Given the description of an element on the screen output the (x, y) to click on. 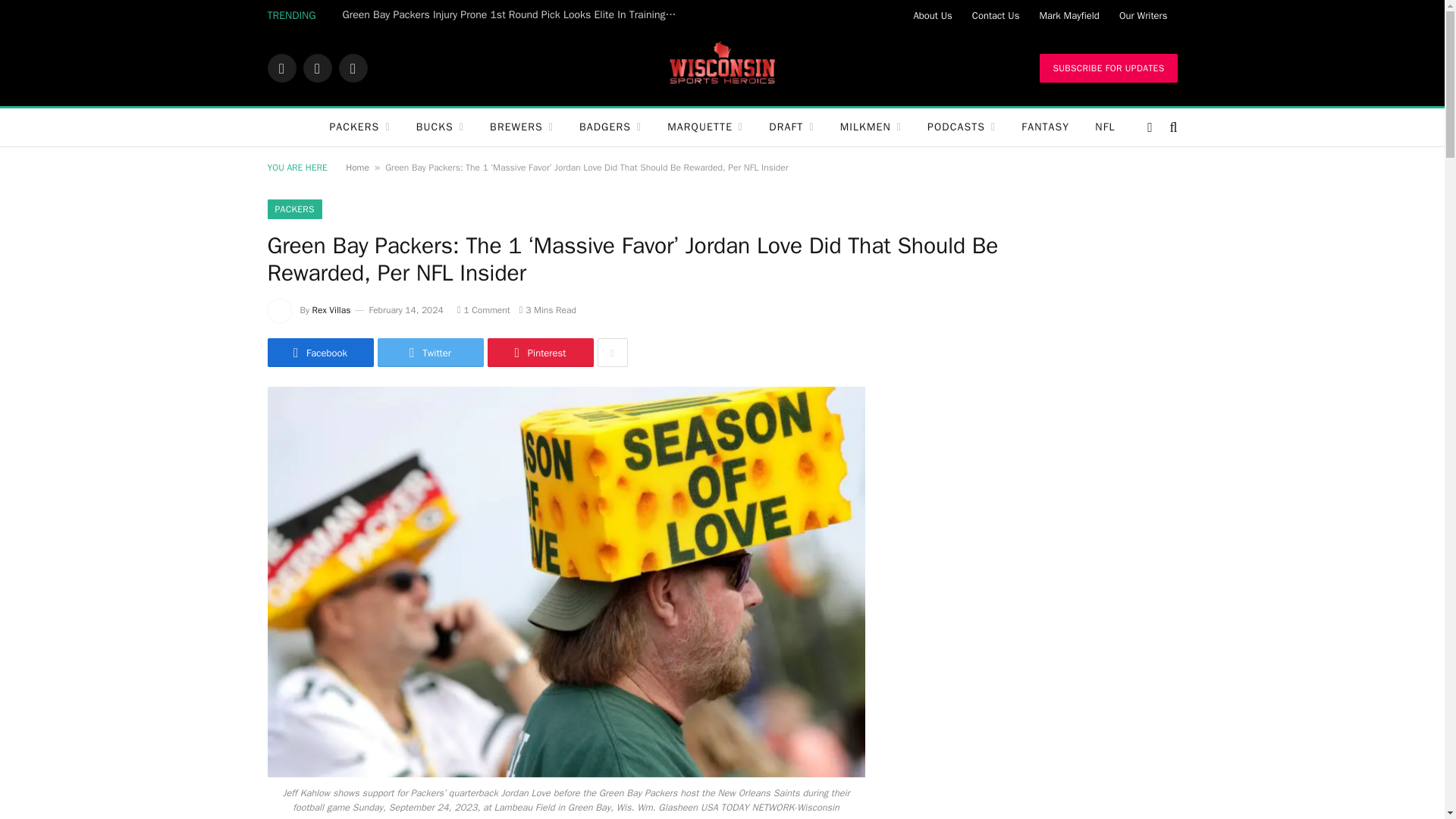
Our Writers (1143, 15)
BREWERS (521, 127)
PACKERS (359, 127)
BUCKS (440, 127)
Facebook (280, 68)
WI Sports Heroics (721, 68)
Mark Mayfield (1068, 15)
Contact Us (995, 15)
Posts by Rex Villas (331, 309)
Switch to Dark Design - easier on eyes. (1149, 127)
RSS (351, 68)
About Us (931, 15)
SUBSCRIBE FOR UPDATES (1107, 68)
